Given the description of an element on the screen output the (x, y) to click on. 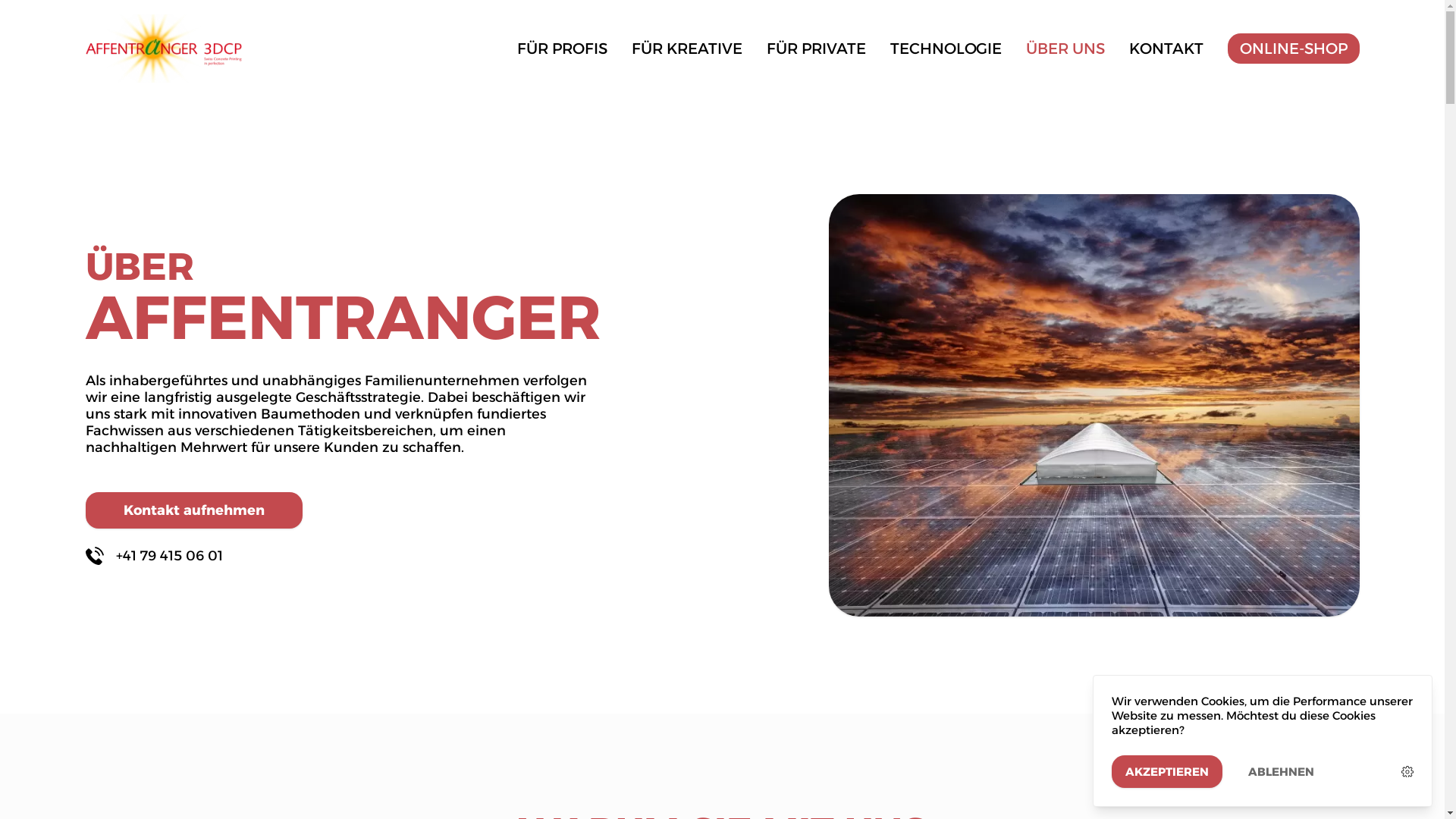
KONTAKT Element type: text (1165, 48)
AKZEPTIEREN Element type: text (1166, 771)
ABLEHNEN Element type: text (1280, 771)
+41 79 415 06 01 Element type: text (339, 555)
TECHNOLOGIE Element type: text (945, 48)
ONLINE-SHOP Element type: text (1292, 48)
Kontakt aufnehmen Element type: text (192, 510)
